Given the description of an element on the screen output the (x, y) to click on. 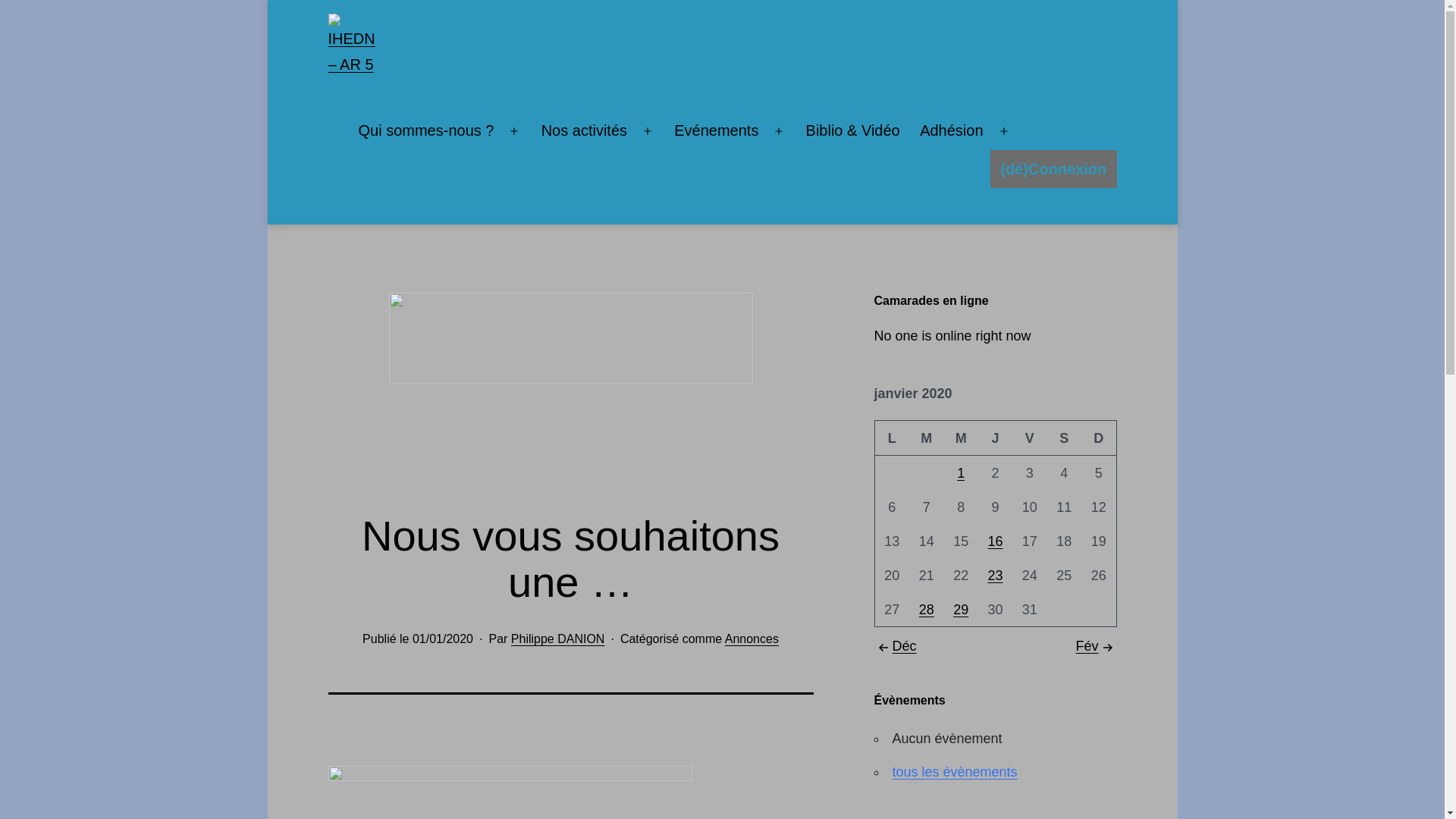
Ouvrir le menu Element type: text (1003, 131)
1 Element type: text (960, 472)
16 Element type: text (994, 541)
Ouvrir le menu Element type: text (778, 131)
Ouvrir le menu Element type: text (647, 131)
Qui sommes-nous ? Element type: text (425, 131)
Ouvrir le menu Element type: text (513, 131)
29 Element type: text (960, 609)
Annonces Element type: text (751, 638)
23 Element type: text (994, 575)
28 Element type: text (926, 609)
Philippe DANION Element type: text (558, 638)
